Given the description of an element on the screen output the (x, y) to click on. 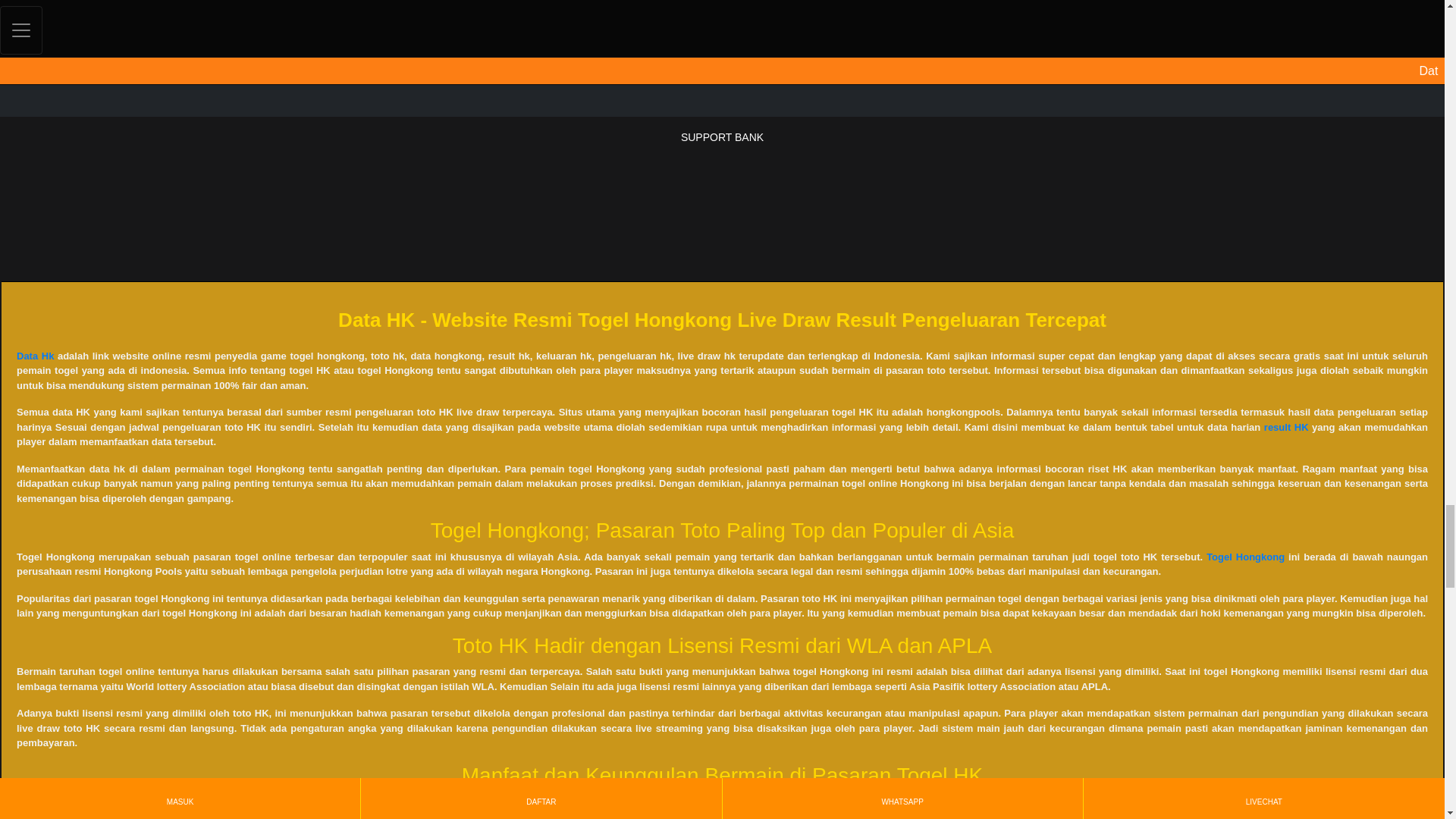
Togel Hongkong (1245, 556)
Data Hk (34, 355)
result HK (1285, 427)
